Given the description of an element on the screen output the (x, y) to click on. 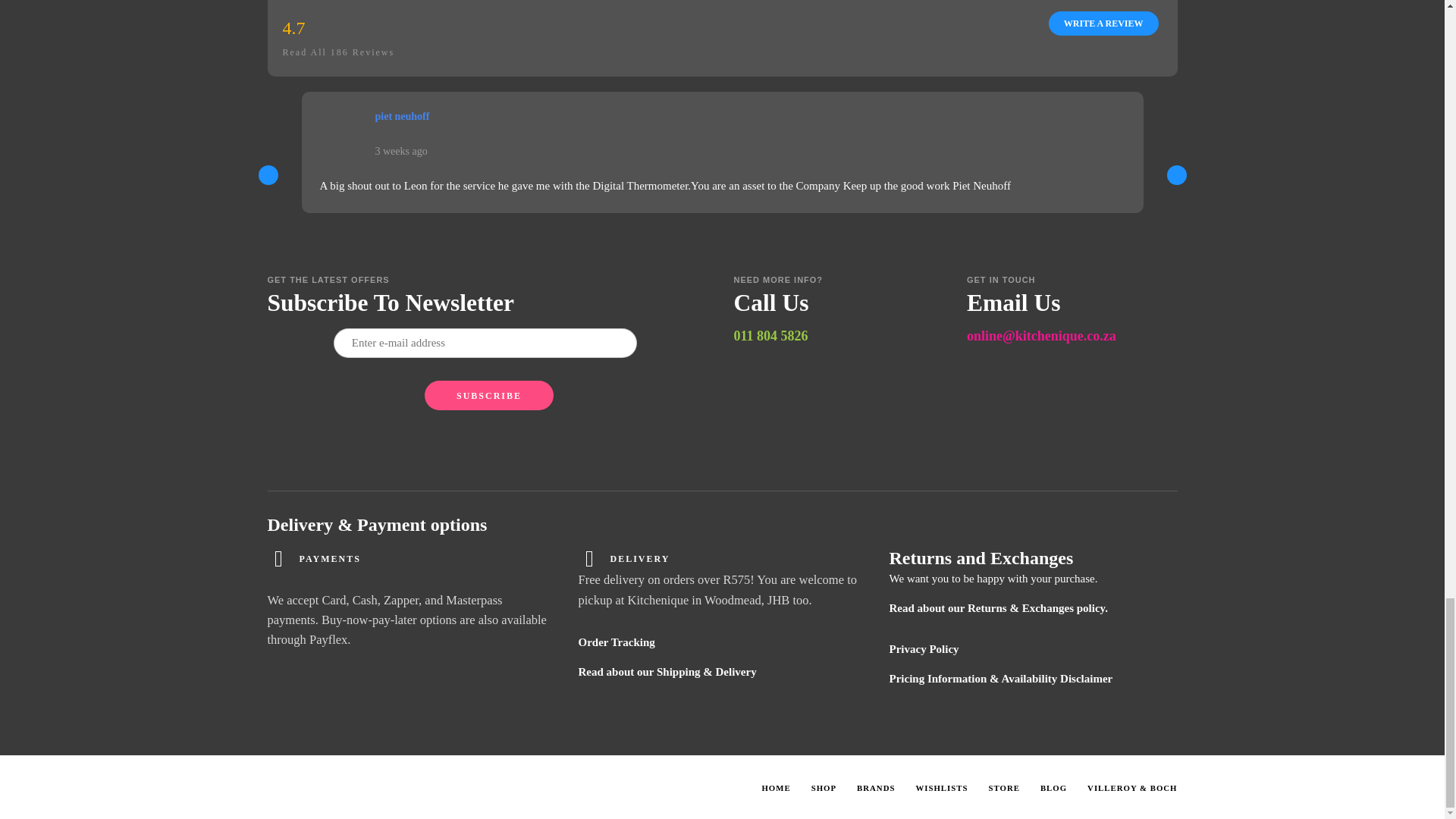
Subscribe (489, 395)
